Given the description of an element on the screen output the (x, y) to click on. 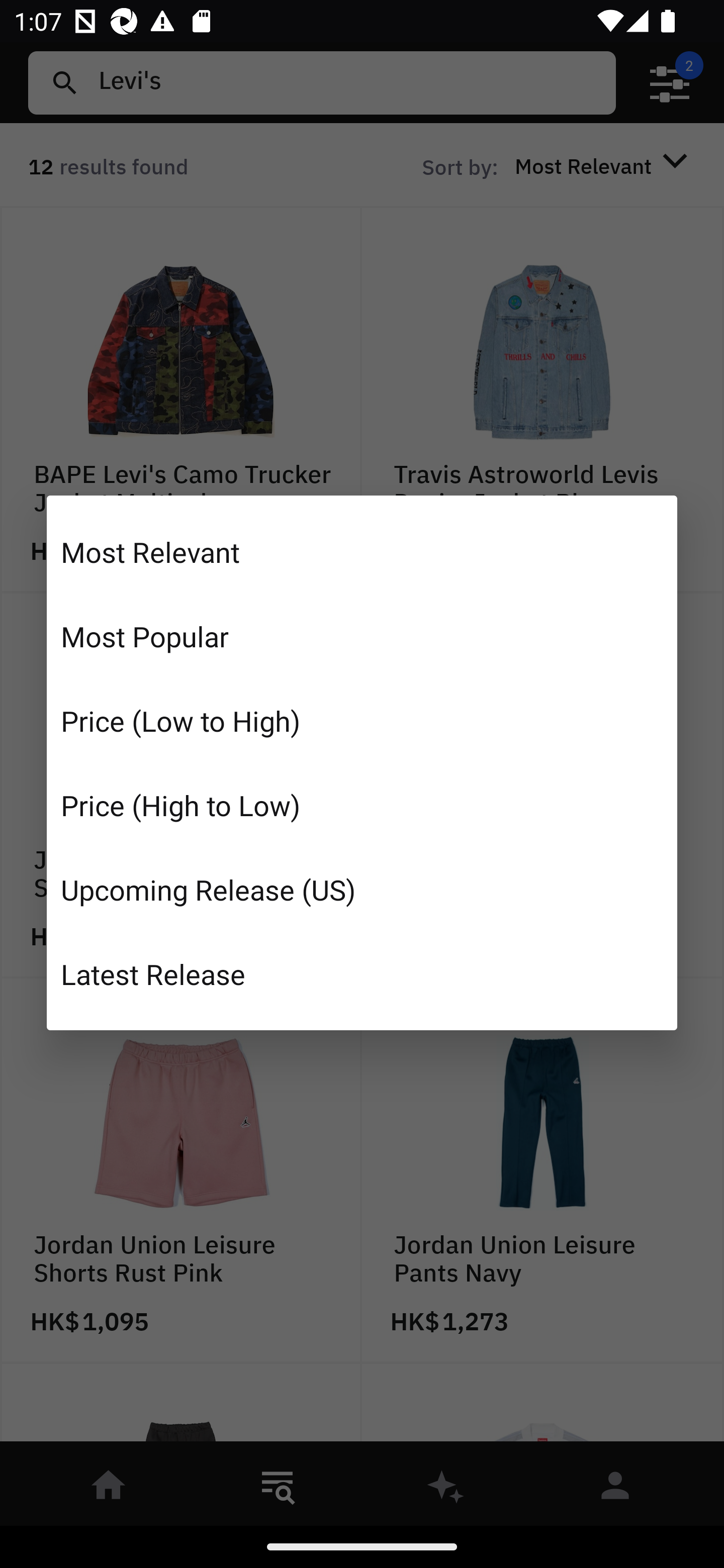
Most Relevant (361, 551)
Most Popular (361, 636)
Price (Low to High) (361, 720)
Price (High to Low) (361, 804)
Upcoming Release (US) (361, 888)
Latest Release (361, 973)
